Given the description of an element on the screen output the (x, y) to click on. 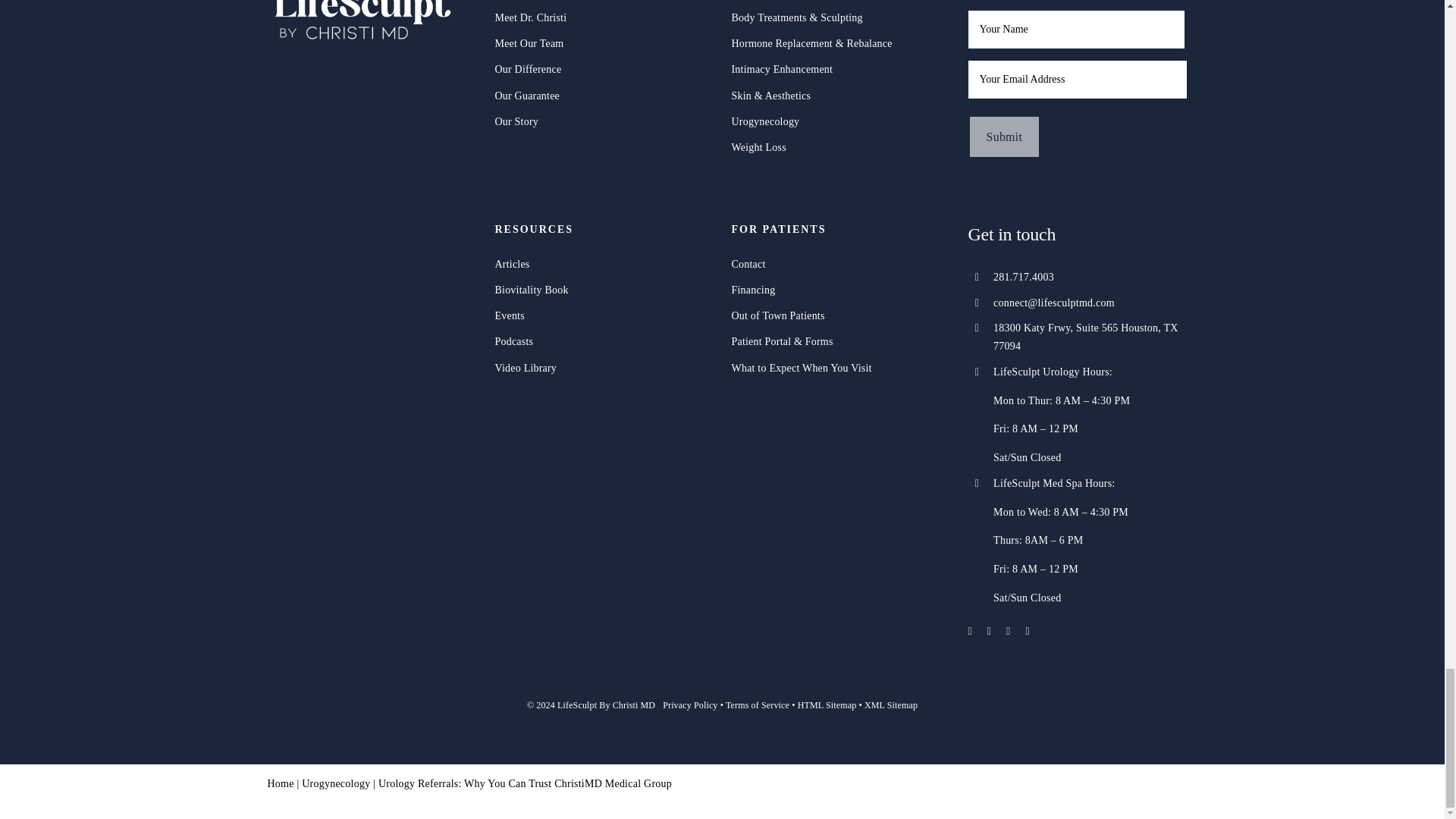
Submit (1004, 136)
